Given the description of an element on the screen output the (x, y) to click on. 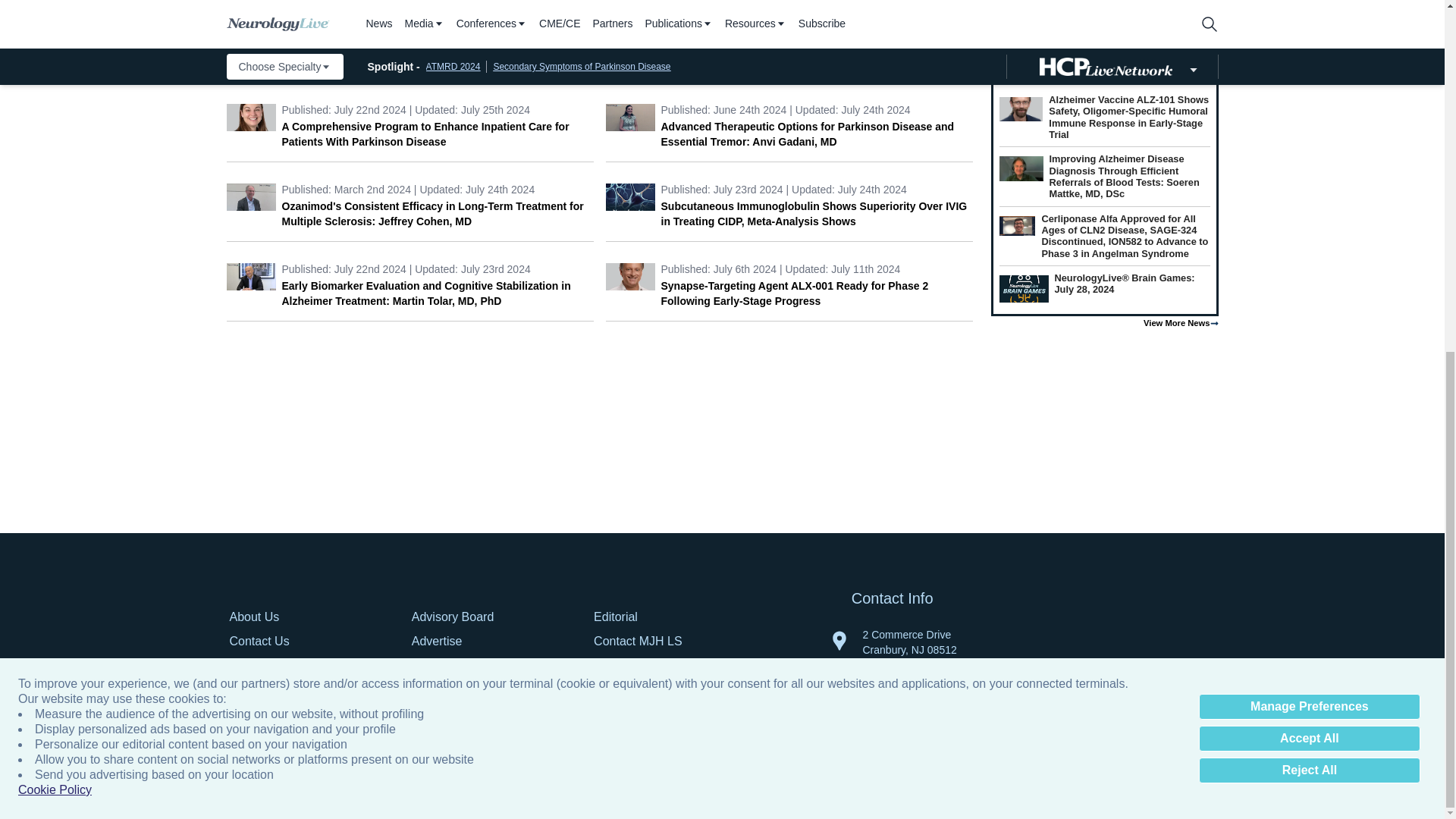
Reject All (1309, 158)
Accept All (1309, 127)
Manage Preferences (1309, 95)
Cookie Policy (54, 178)
